Given the description of an element on the screen output the (x, y) to click on. 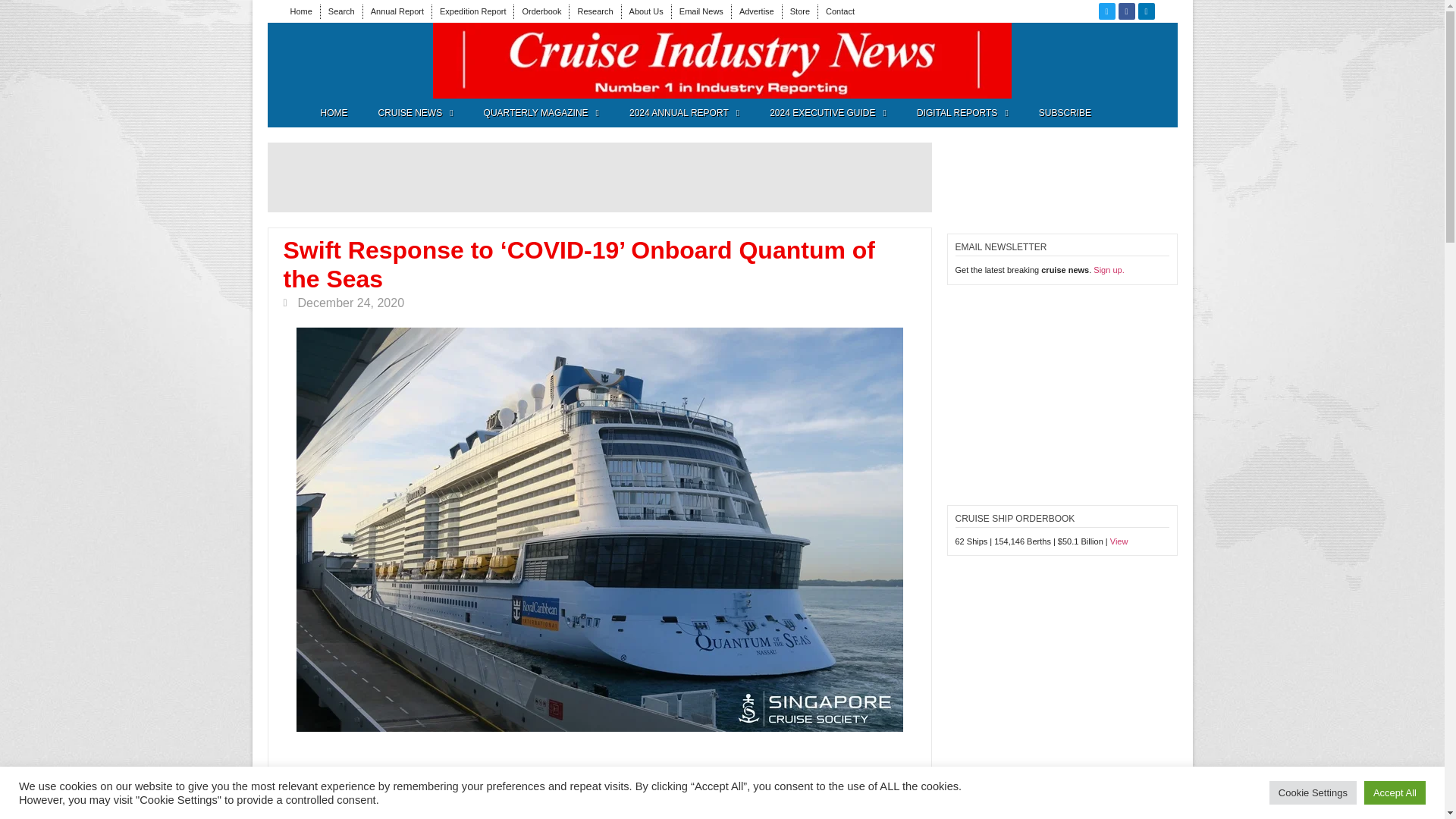
Store (799, 11)
Search (342, 11)
Orderbook (540, 11)
CRUISE NEWS (414, 112)
Advertise (756, 11)
Annual Report (397, 11)
Research (594, 11)
3rd party ad content (360, 60)
Expedition Report (472, 11)
Contact (839, 11)
